Given the description of an element on the screen output the (x, y) to click on. 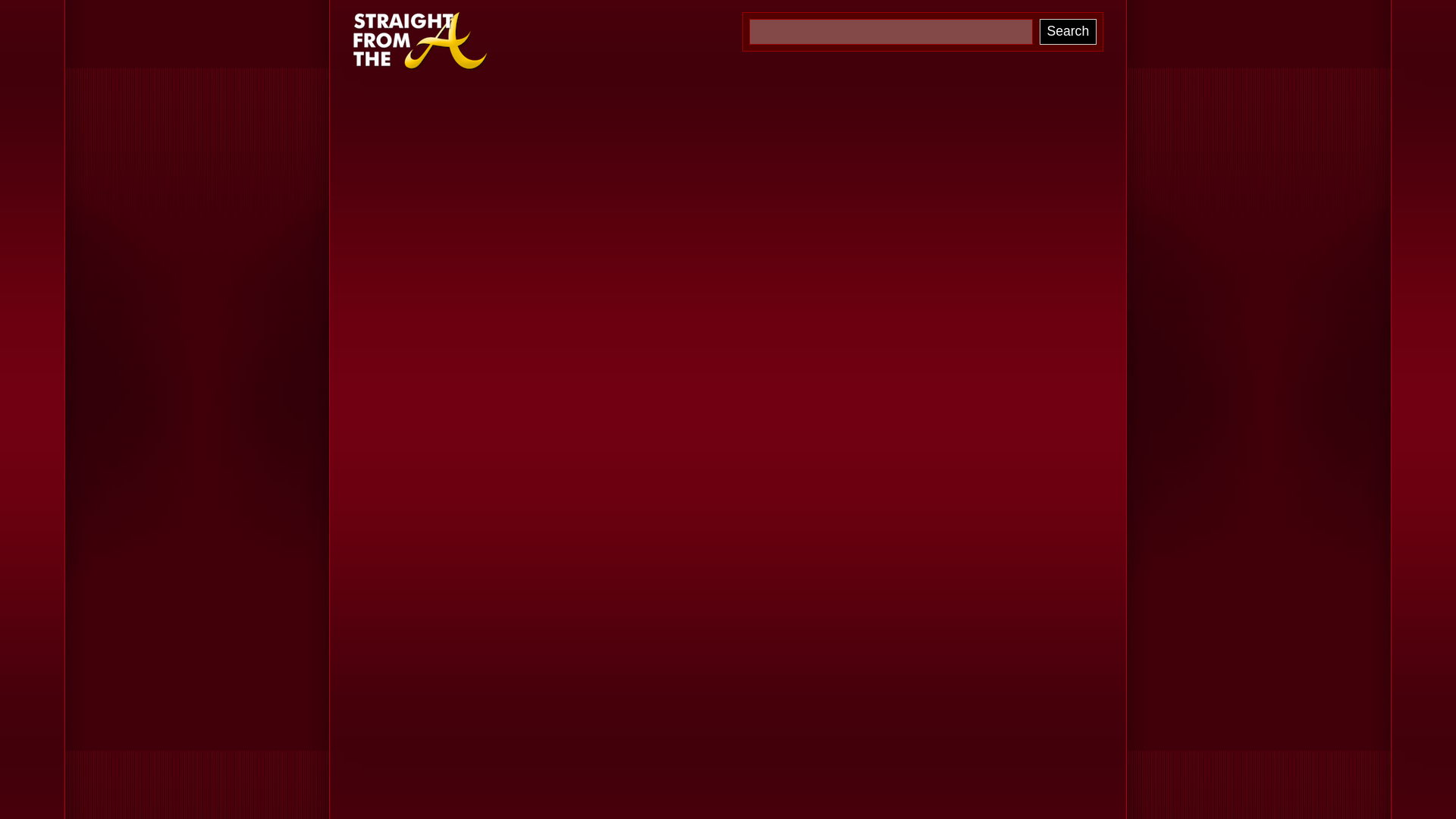
Search (1067, 31)
Search (1067, 31)
